Given the description of an element on the screen output the (x, y) to click on. 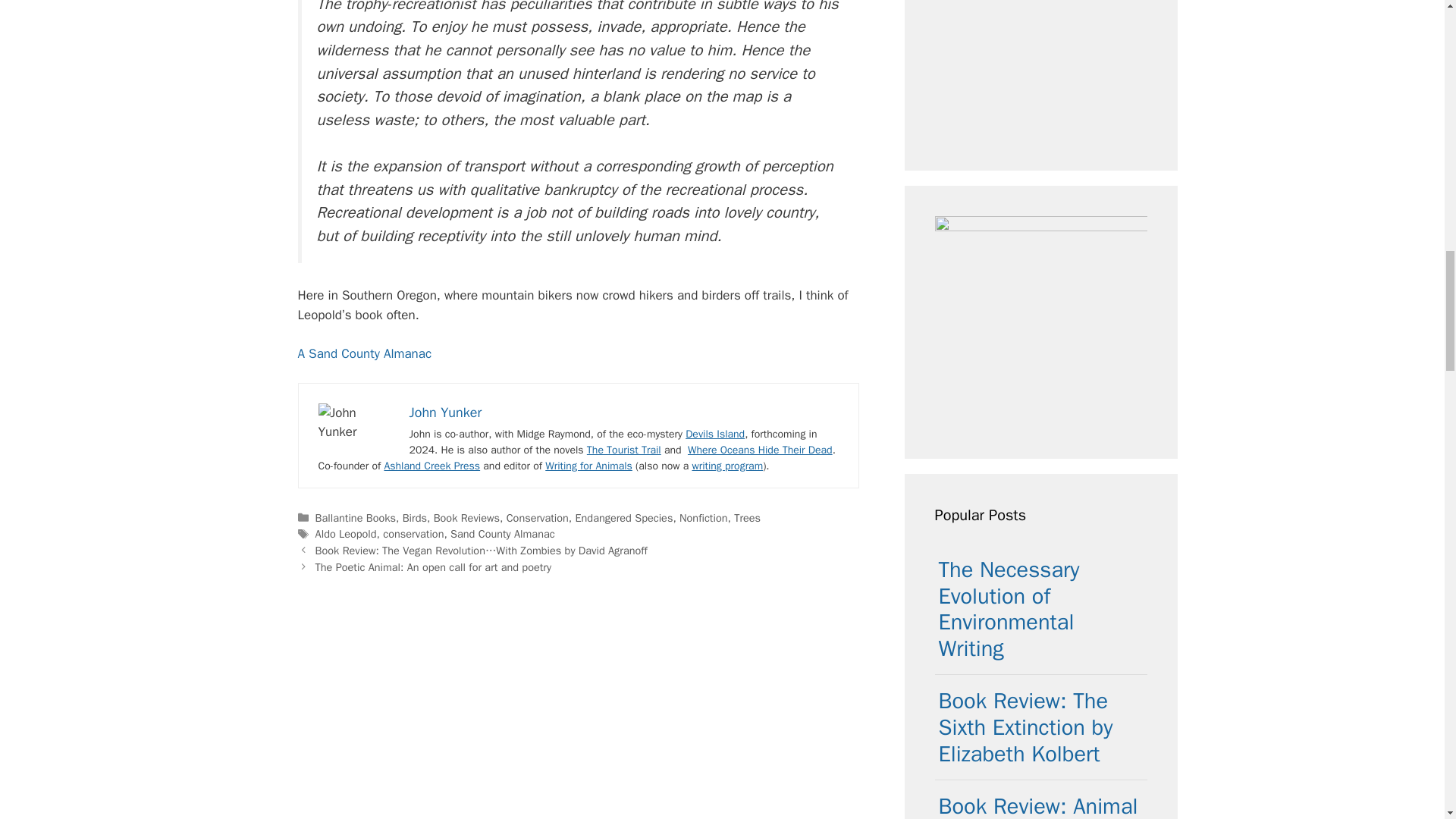
The Necessary Evolution of Environmental Writing (1009, 609)
Book Review: The Sixth Extinction by Elizabeth Kolbert (1026, 727)
